Given the description of an element on the screen output the (x, y) to click on. 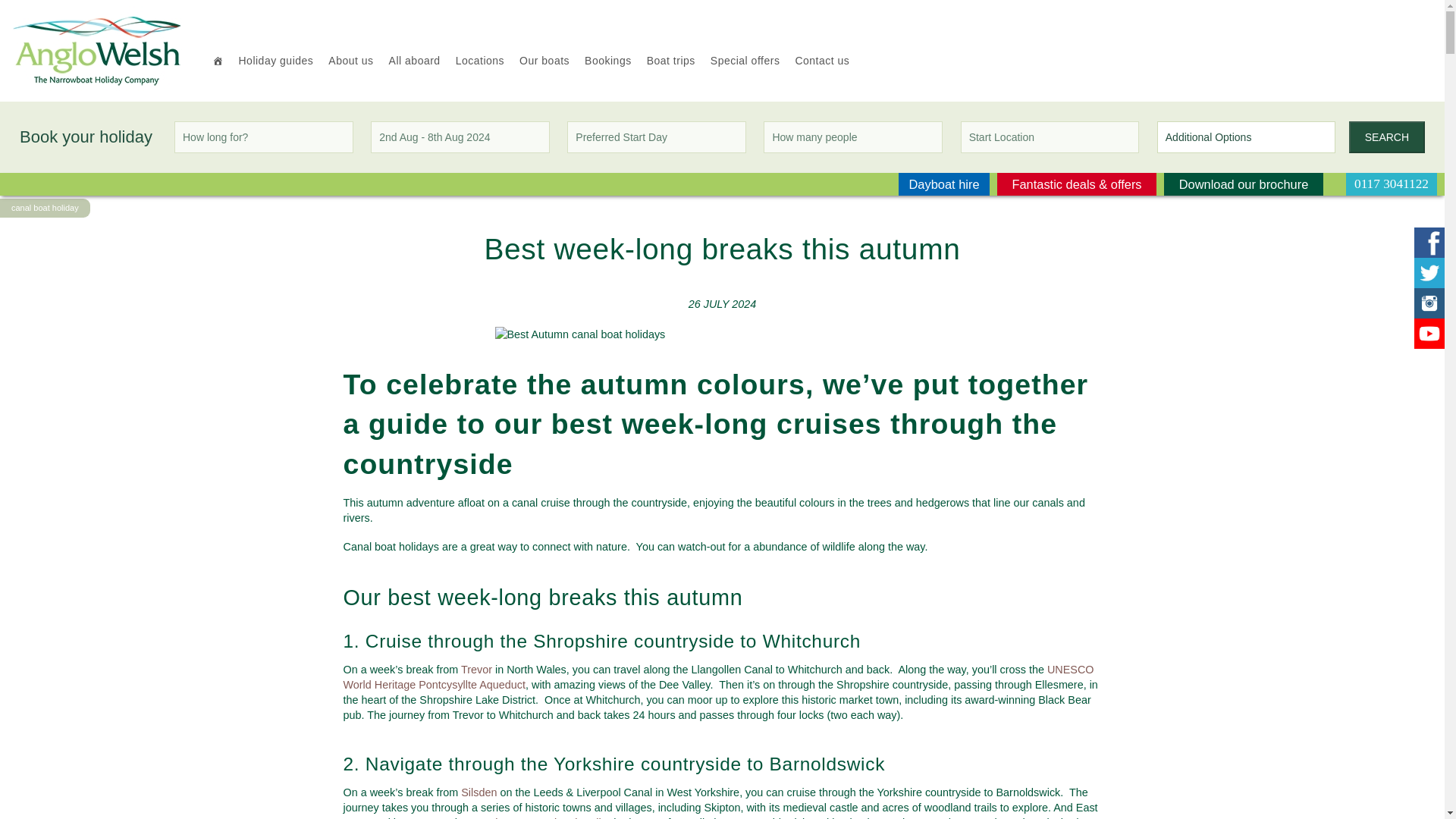
SEARCH (1387, 137)
Holiday guides (275, 60)
All aboard (414, 60)
canal boat holiday (44, 207)
Locations (480, 60)
About us (350, 60)
